Given the description of an element on the screen output the (x, y) to click on. 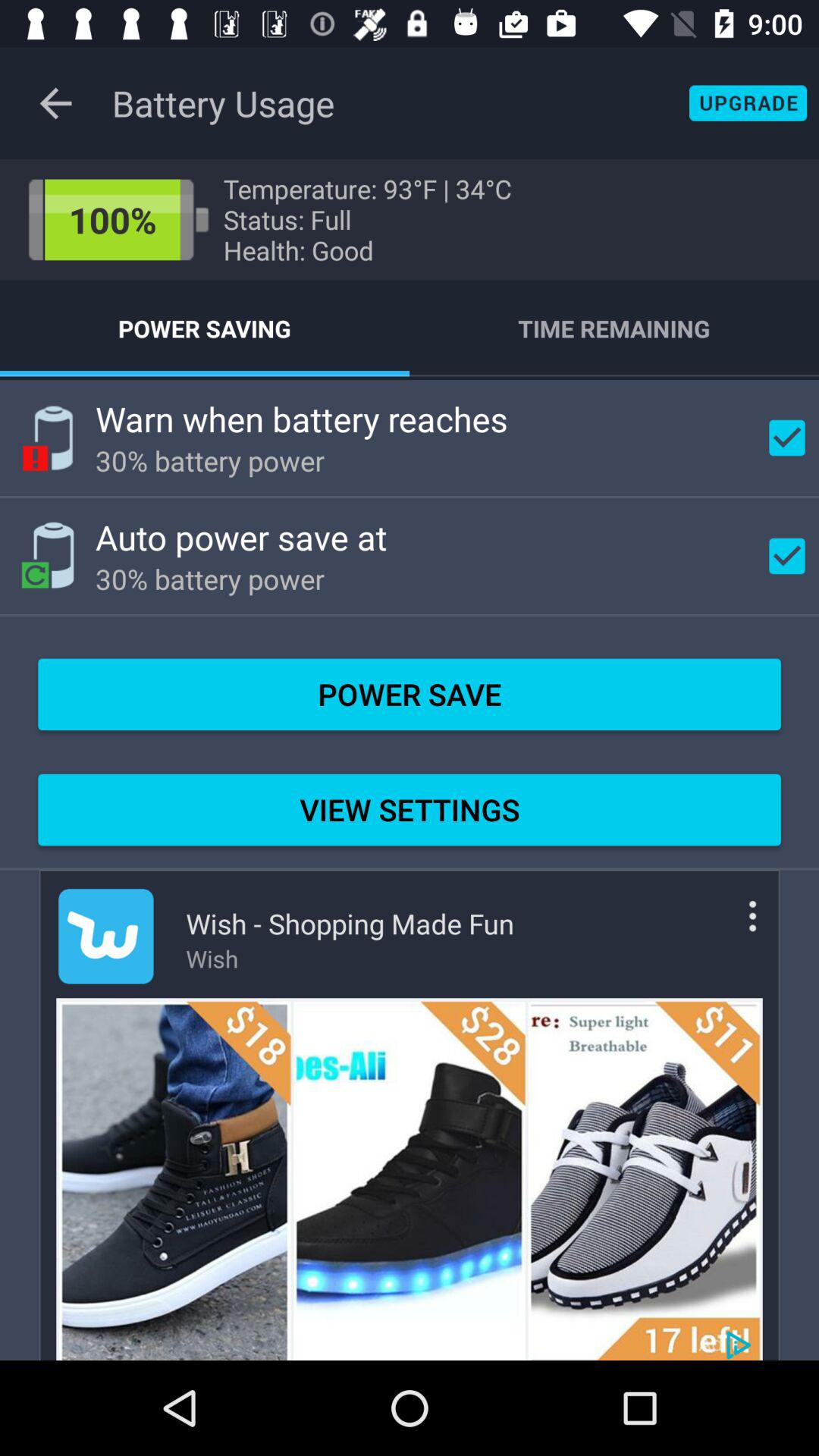
open wish app (105, 936)
